Given the description of an element on the screen output the (x, y) to click on. 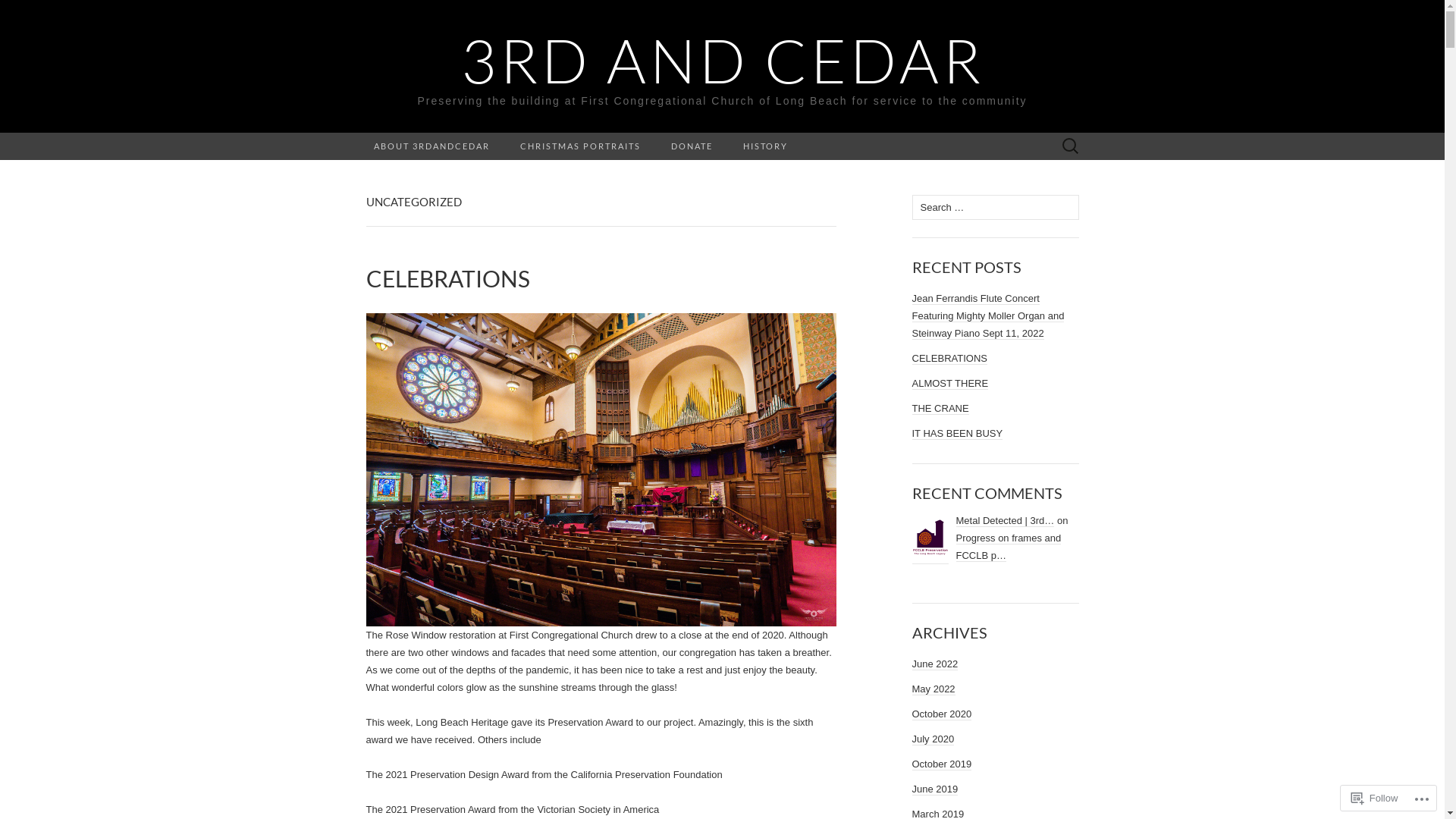
June 2022 Element type: text (934, 664)
CELEBRATIONS Element type: text (600, 278)
CHRISTMAS PORTRAITS Element type: text (580, 146)
July 2020 Element type: text (932, 739)
ALMOST THERE Element type: text (949, 383)
October 2019 Element type: text (941, 764)
DONATE Element type: text (691, 146)
May 2022 Element type: text (932, 689)
October 2020 Element type: text (941, 714)
HISTORY Element type: text (765, 146)
ABOUT 3RDANDCEDAR Element type: text (430, 146)
Follow Element type: text (1374, 797)
Metal Detected | 3rd and Cedar Element type: hover (929, 537)
THE CRANE Element type: text (939, 408)
June 2019 Element type: text (934, 789)
CELEBRATIONS Element type: text (948, 358)
IT HAS BEEN BUSY Element type: text (956, 433)
Search Element type: text (39, 12)
Search Element type: text (15, 12)
